Given the description of an element on the screen output the (x, y) to click on. 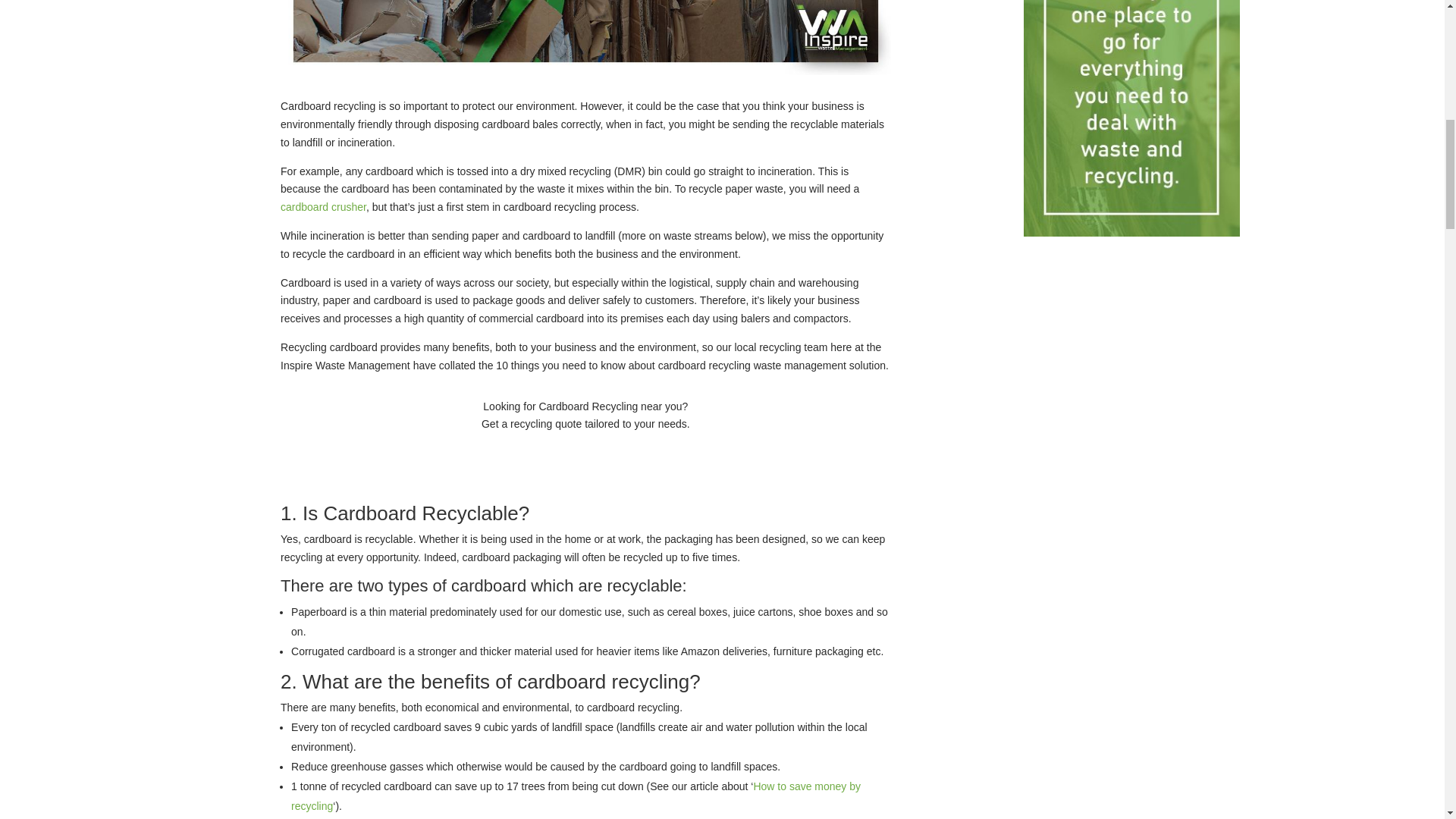
sidebanner2 (1131, 117)
cardboard crusher (323, 206)
paper-cardboard-recycling-business-waste-disposal (586, 37)
How to save money by recycling (575, 796)
Cardboard baler (323, 206)
